Given the description of an element on the screen output the (x, y) to click on. 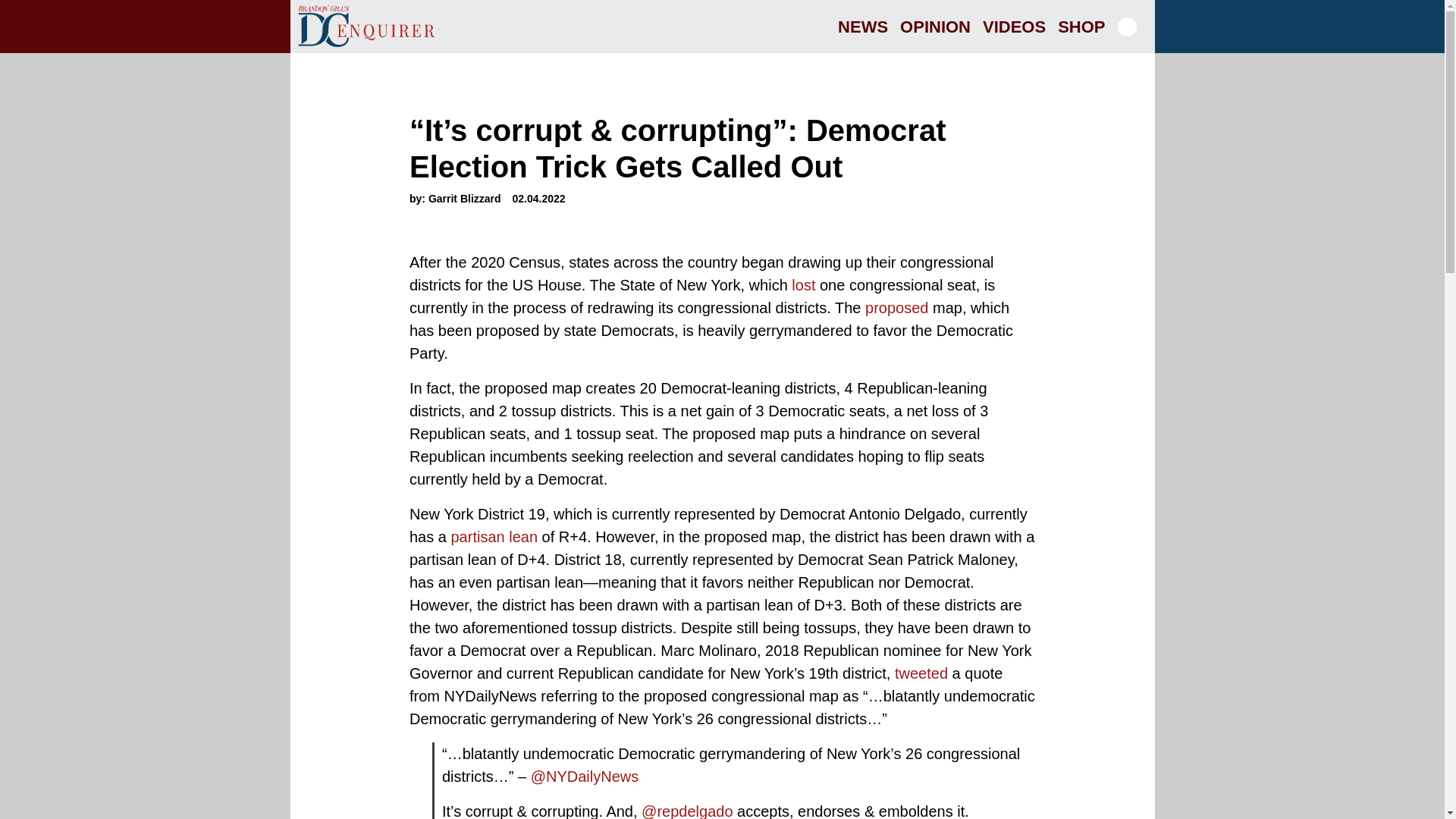
SHOP (1080, 25)
tweeted (921, 673)
partisan lean (493, 536)
VIDEOS (1013, 25)
NEWS (862, 25)
lost (803, 284)
OPINION (934, 25)
proposed (896, 307)
